Given the description of an element on the screen output the (x, y) to click on. 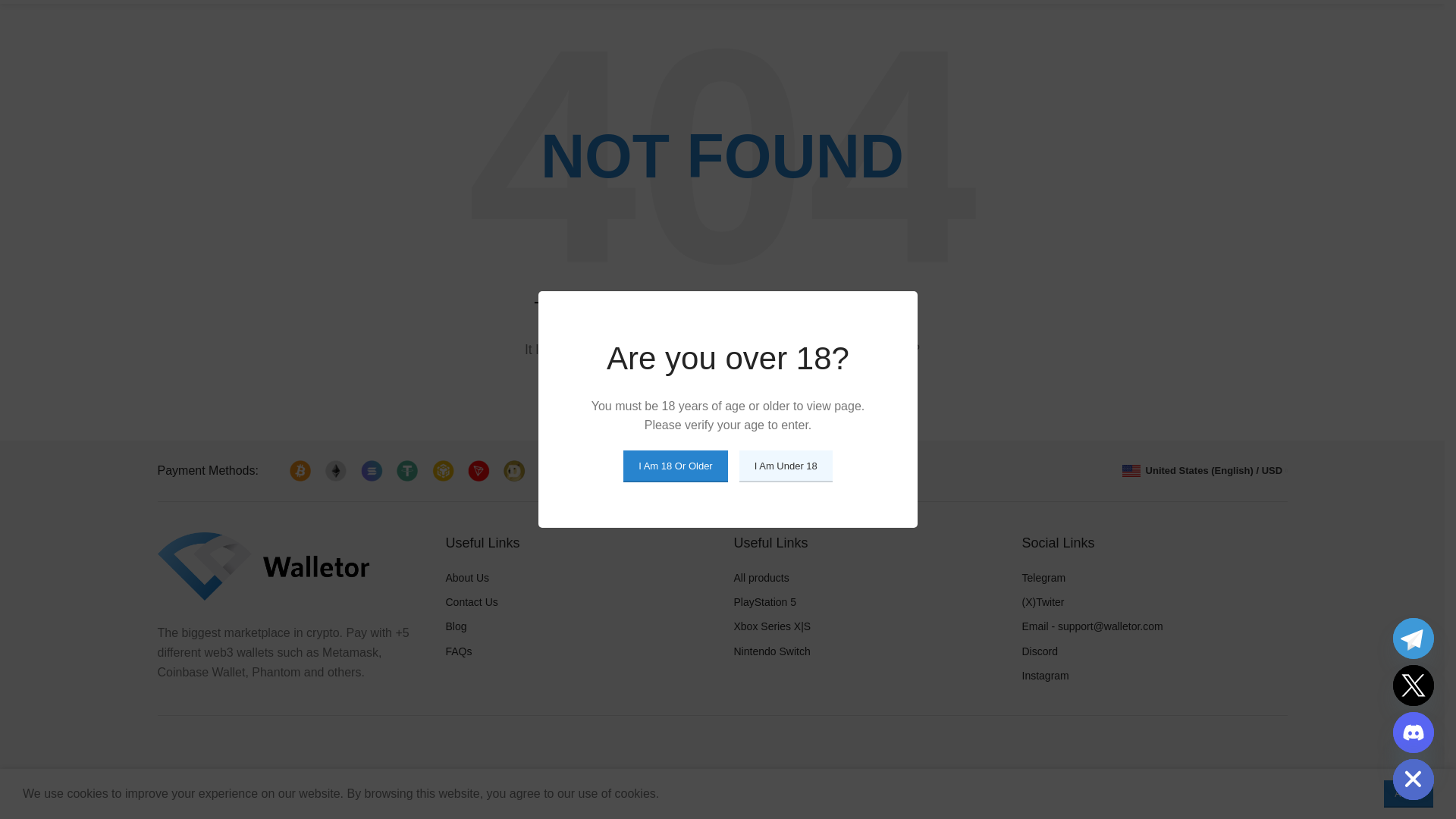
wd-furniture-flag-usa (1131, 470)
Search for posts (721, 392)
Search (855, 392)
I Am Under 18 (785, 371)
I Am 18 Or Older (675, 371)
